Given the description of an element on the screen output the (x, y) to click on. 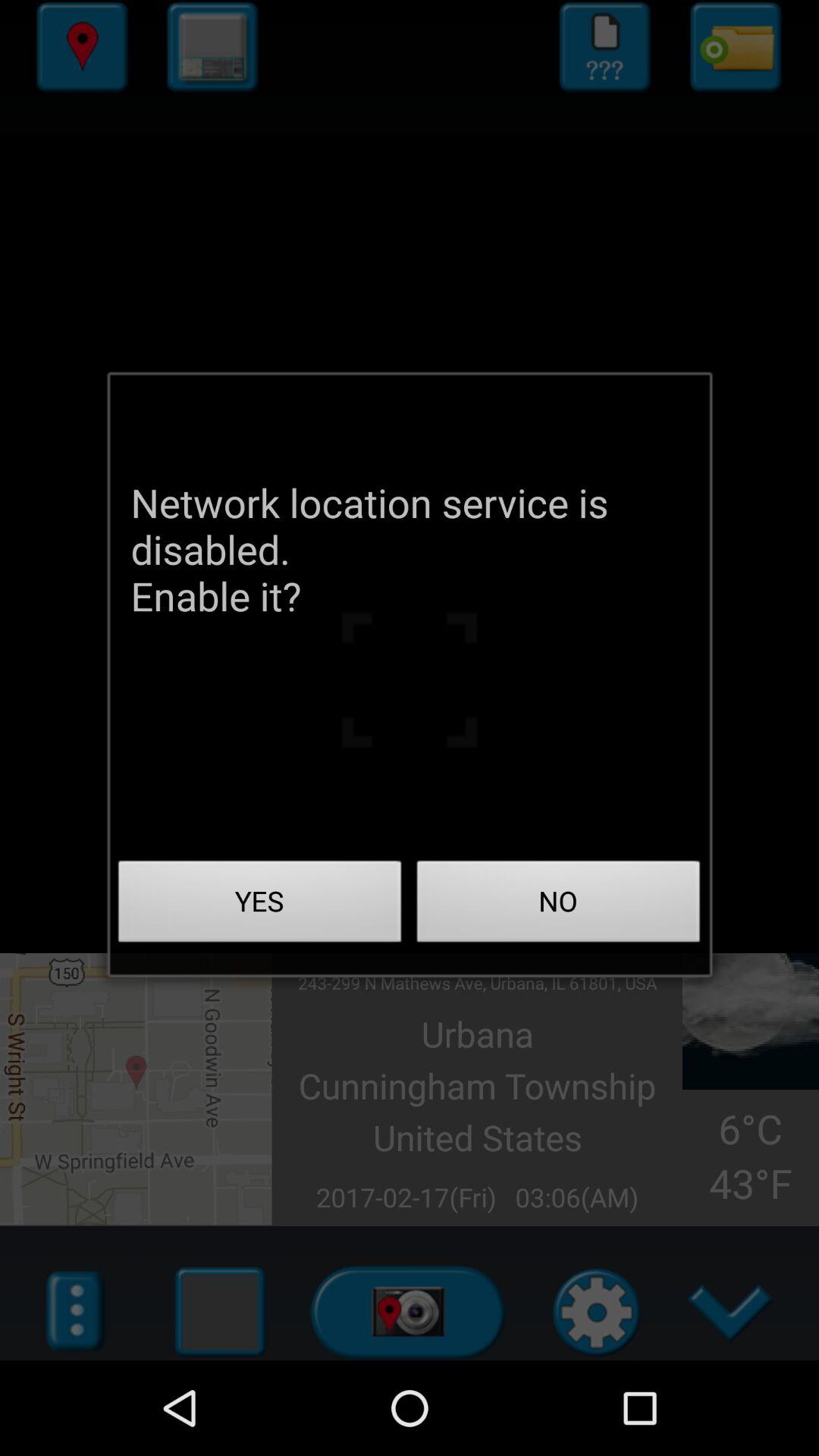
open app below the network location service (558, 905)
